Given the description of an element on the screen output the (x, y) to click on. 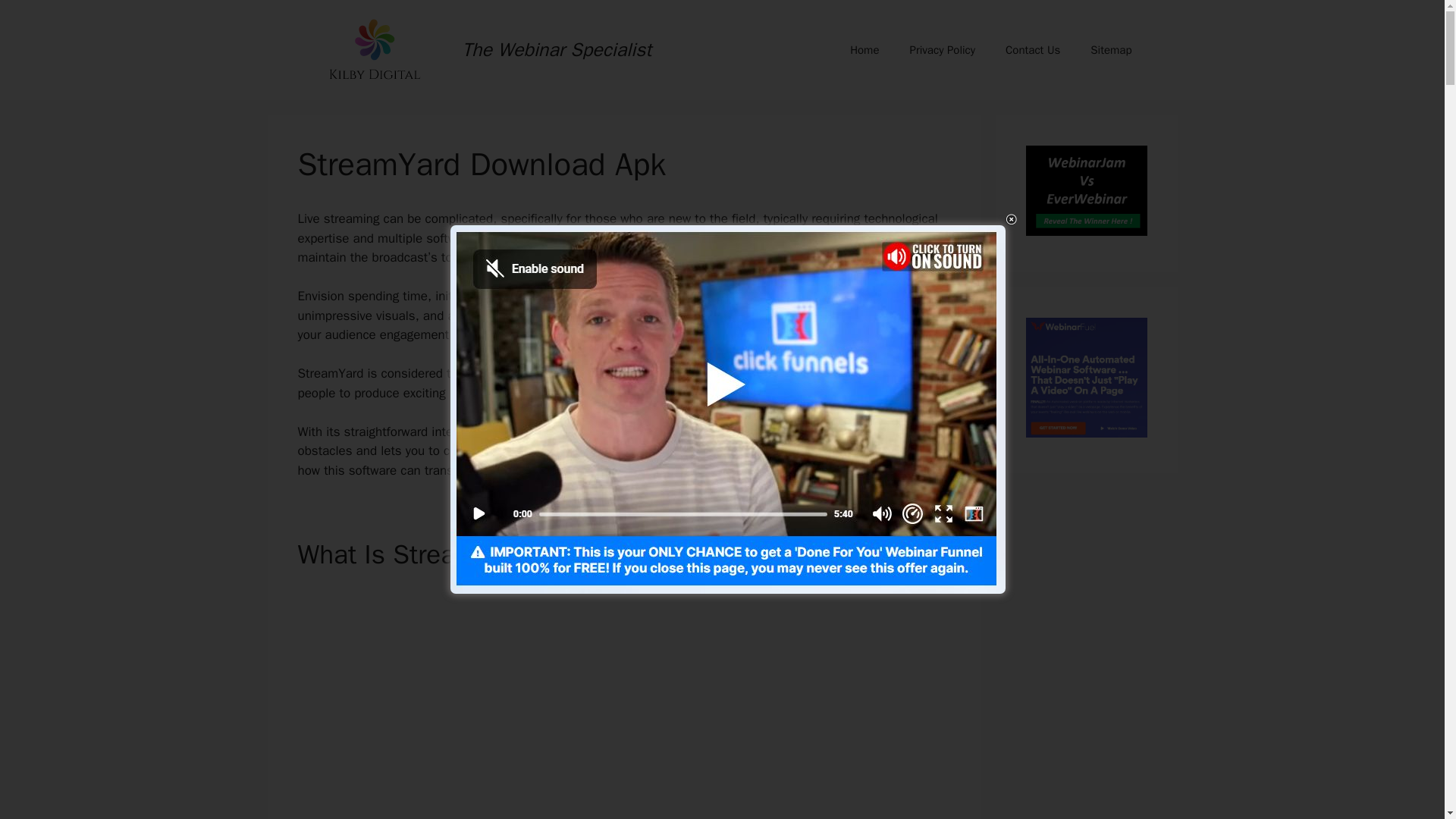
Home (863, 49)
Contact Us (1032, 49)
The Webinar Specialist (557, 49)
Sitemap (1111, 49)
Privacy Policy (941, 49)
